Given the description of an element on the screen output the (x, y) to click on. 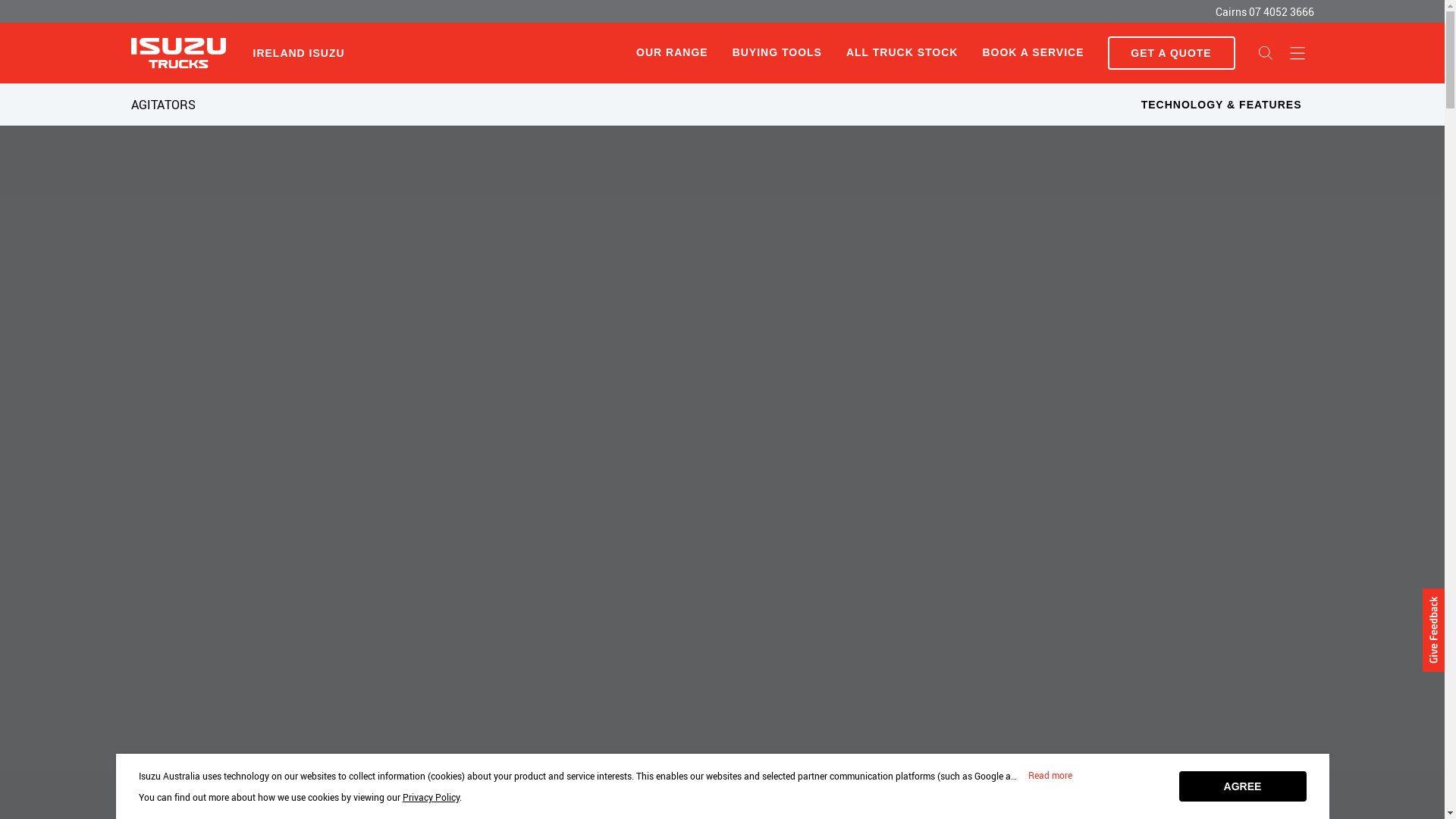
OUR RANGE Element type: text (672, 52)
07 4052 3666 Element type: text (1280, 11)
BOOK A SERVICE Element type: text (1032, 52)
BUYING TOOLS Element type: text (777, 52)
ALL TRUCK STOCK Element type: text (901, 52)
Privacy Policy Element type: text (429, 796)
Read more Element type: text (1049, 775)
AGITATORS Element type: text (162, 104)
GET A QUOTE Element type: text (1170, 52)
TECHNOLOGY & FEATURES Element type: text (1221, 104)
AGREE Element type: text (1241, 786)
